Given the description of an element on the screen output the (x, y) to click on. 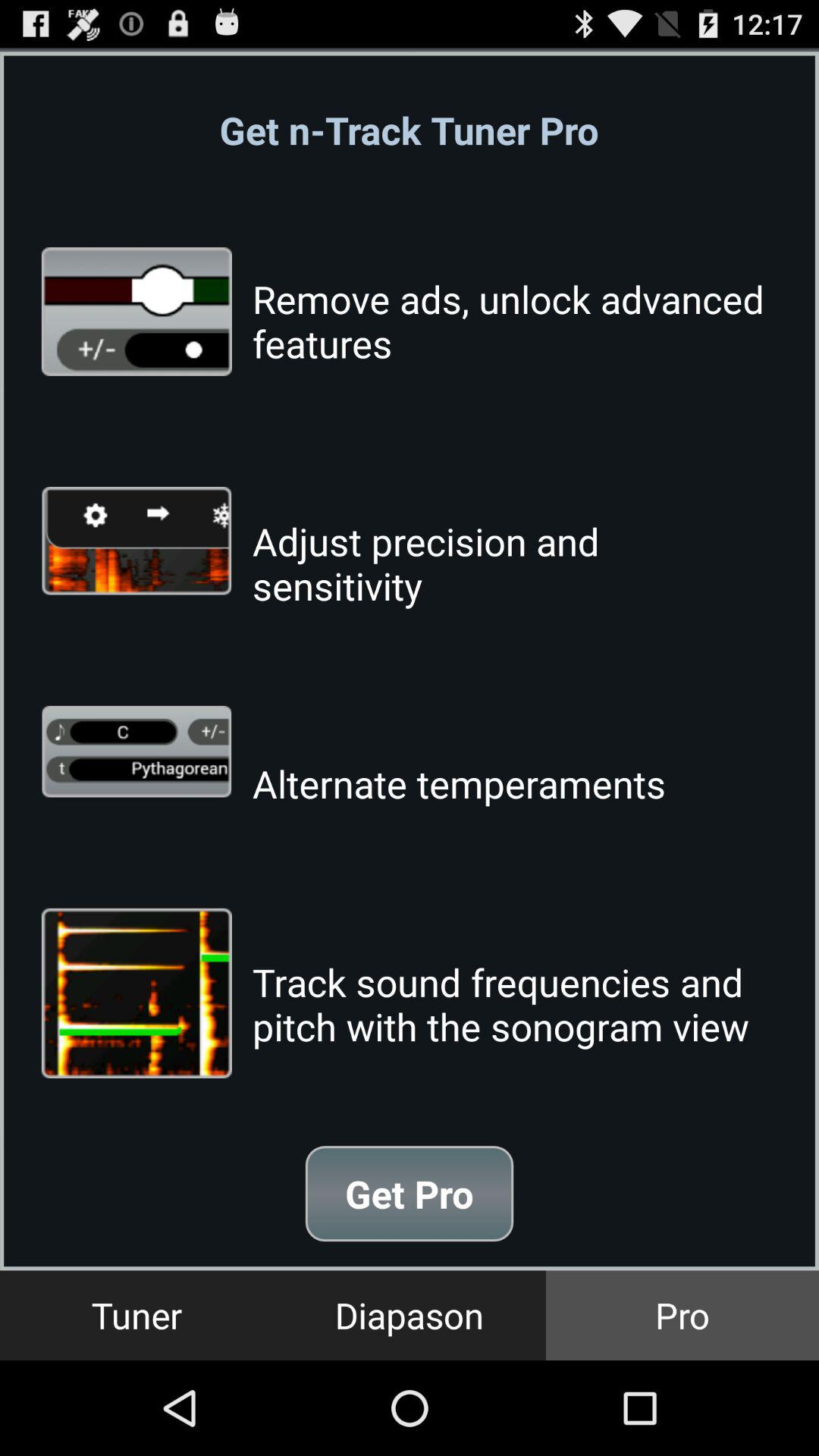
turn off the button to the right of tuner button (409, 1315)
